Given the description of an element on the screen output the (x, y) to click on. 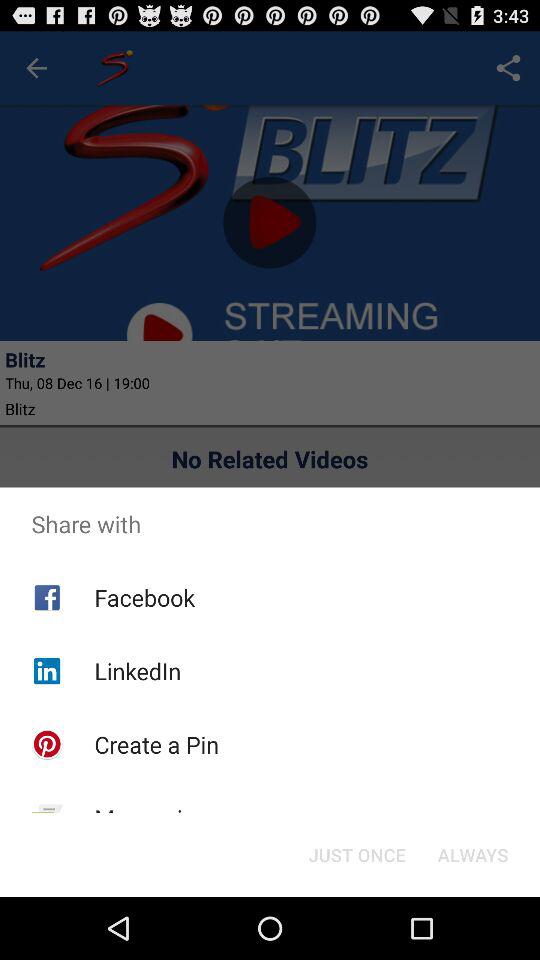
press the always button (472, 854)
